Given the description of an element on the screen output the (x, y) to click on. 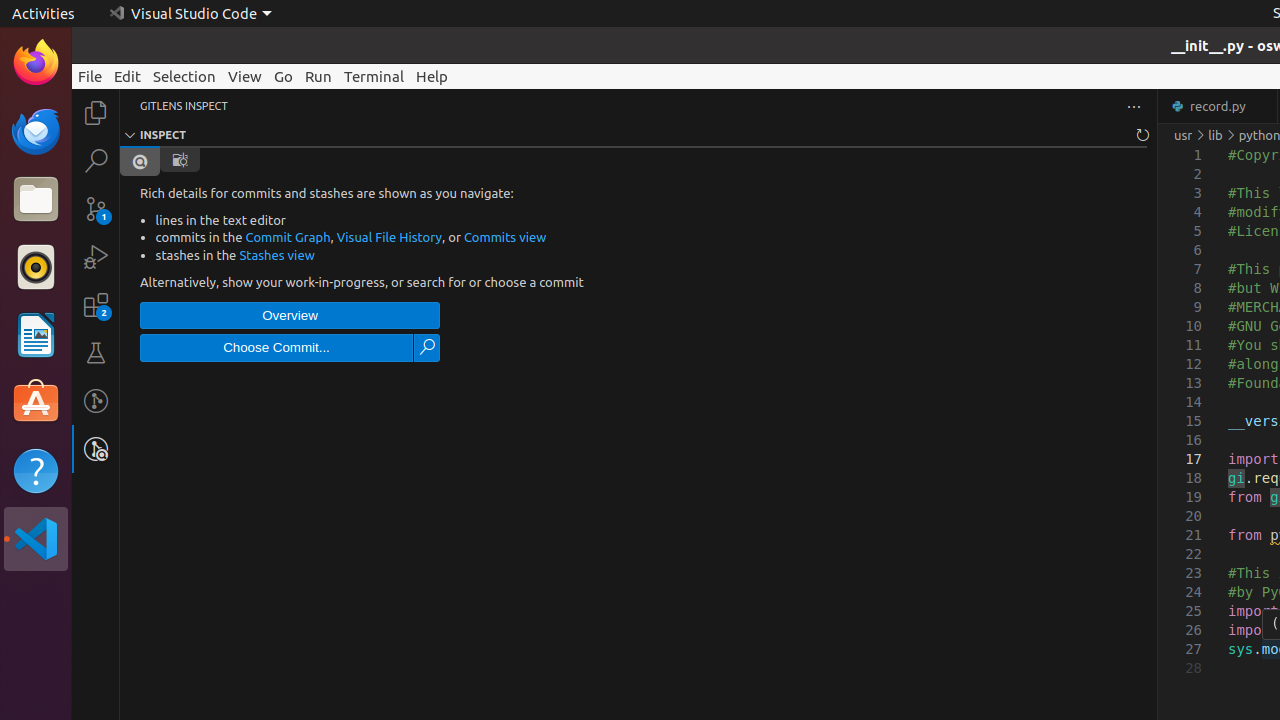
Visual File History Element type: link (389, 237)
 Element type: push-button (180, 160)
